Given the description of an element on the screen output the (x, y) to click on. 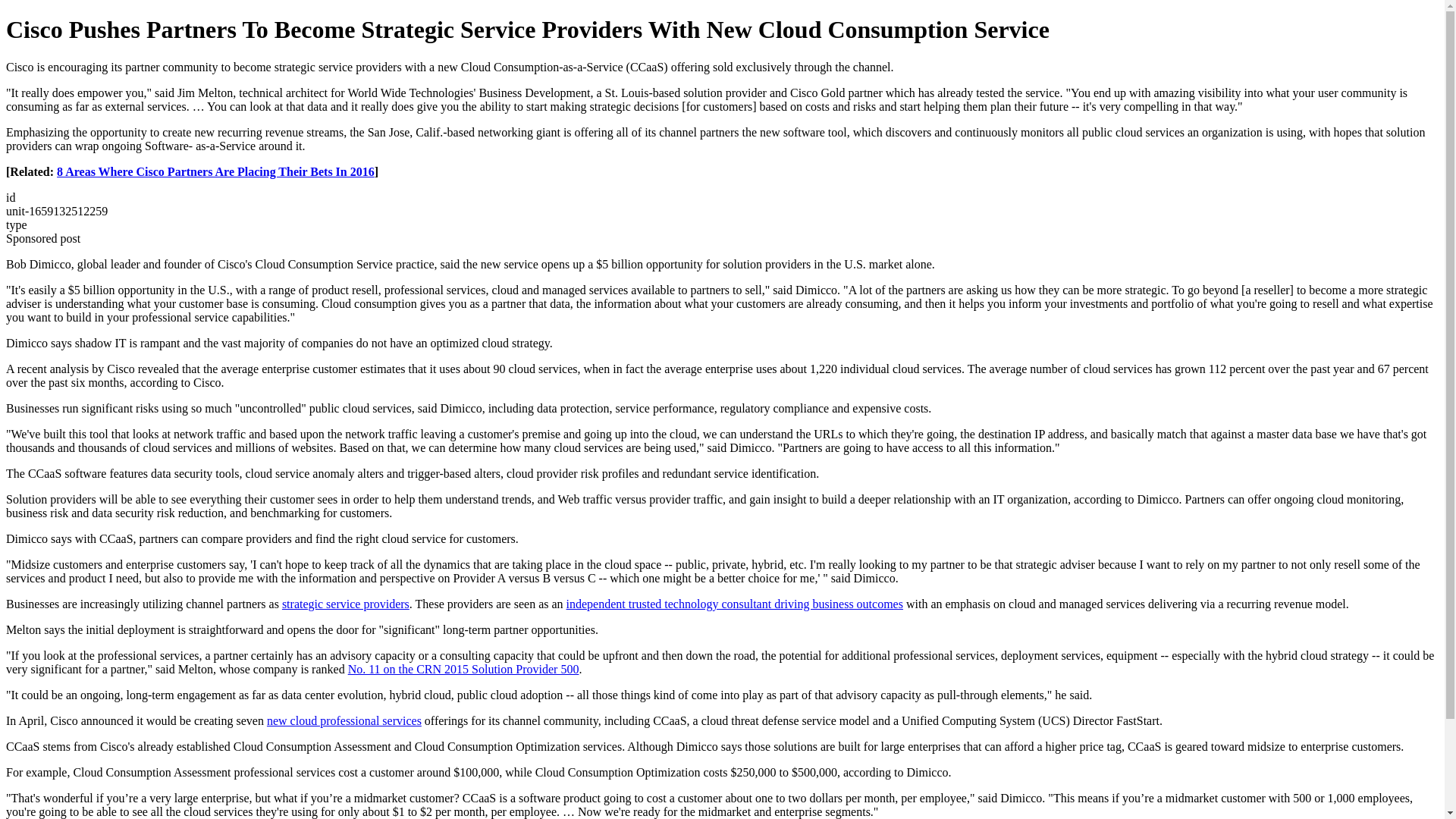
strategic service providers (345, 603)
new cloud professional services (344, 720)
No. 11 on the CRN 2015 Solution Provider 500 (463, 668)
8 Areas Where Cisco Partners Are Placing Their Bets In 2016 (215, 171)
